Given the description of an element on the screen output the (x, y) to click on. 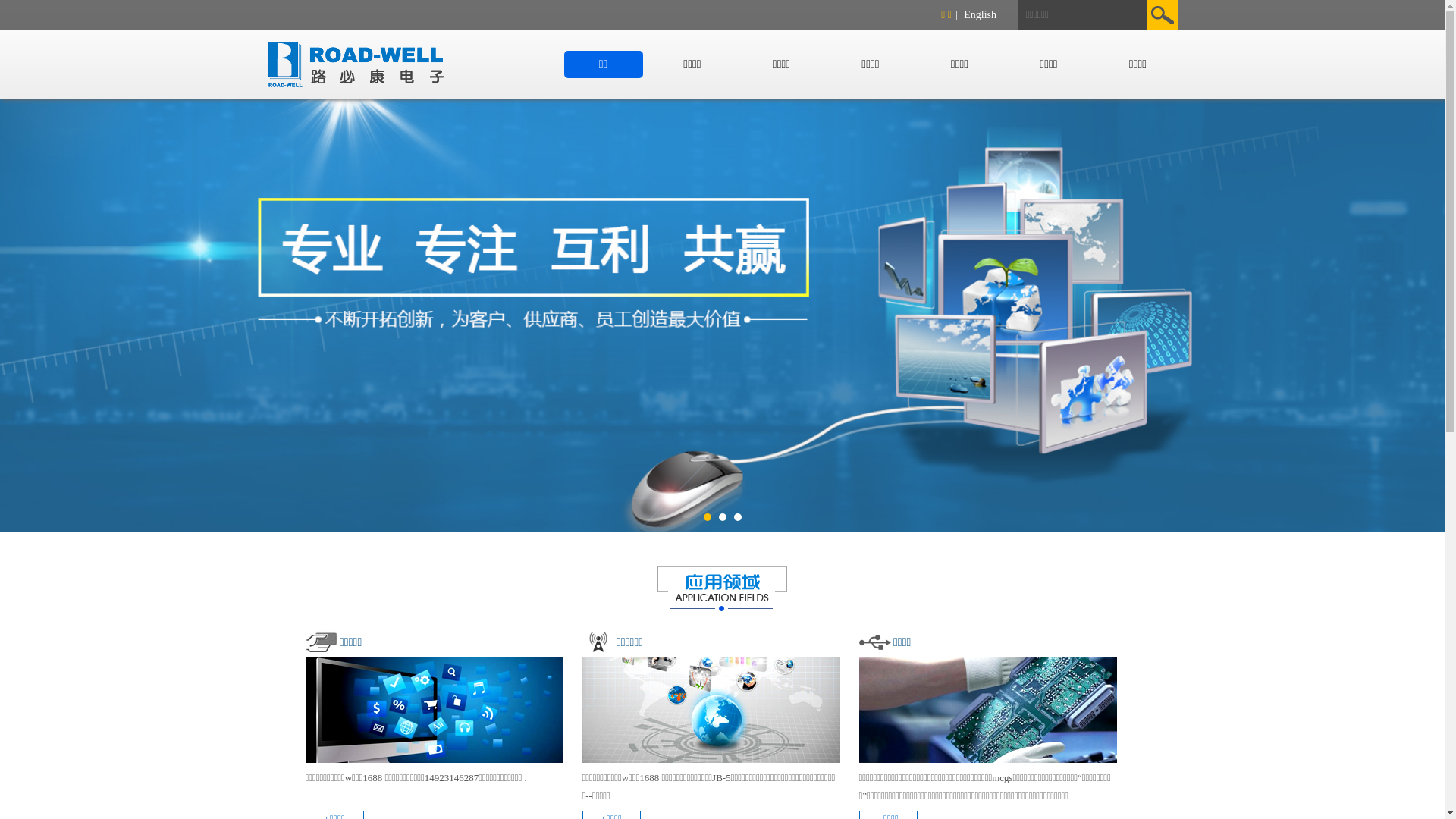
English Element type: text (979, 14)
